Given the description of an element on the screen output the (x, y) to click on. 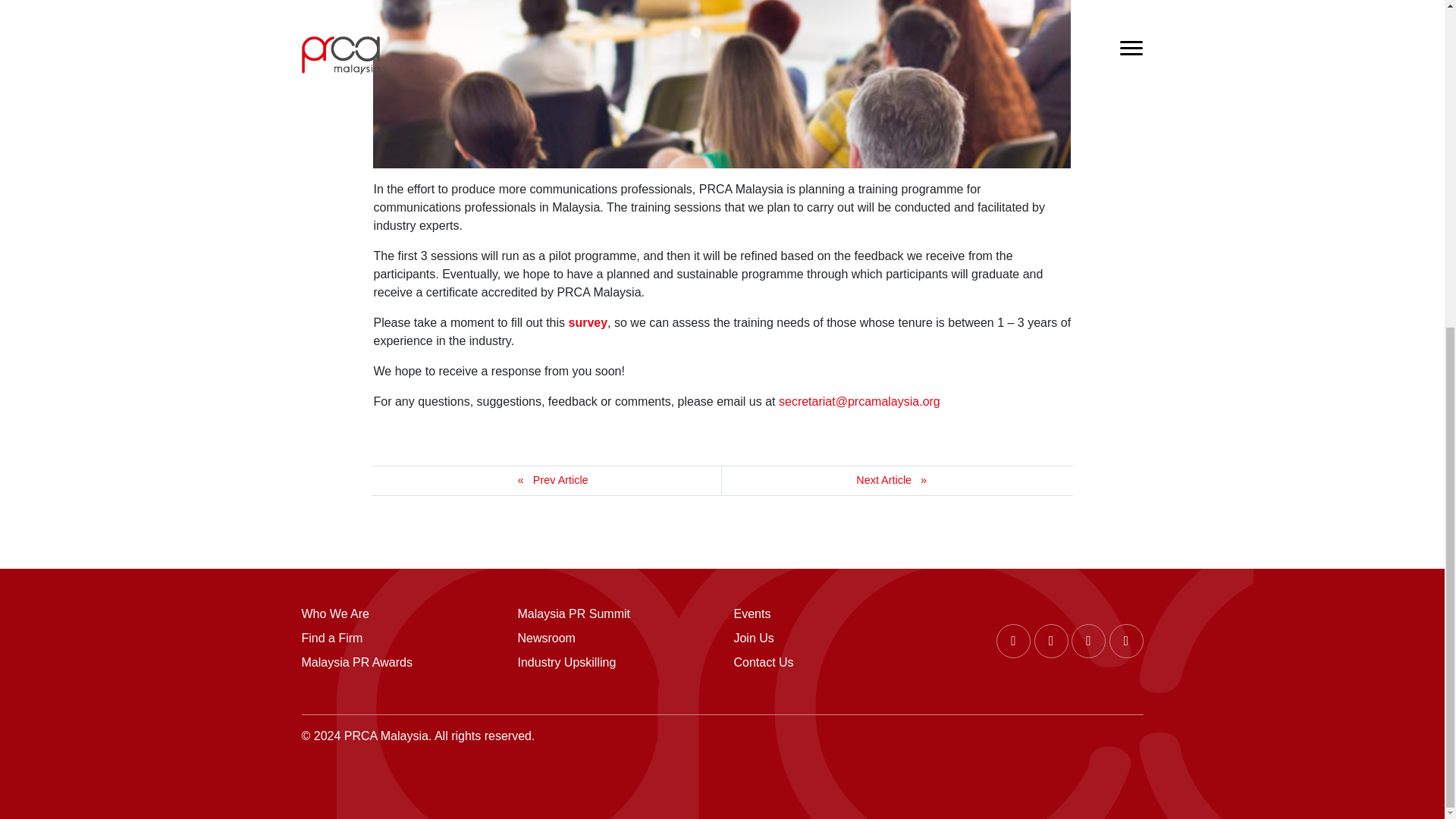
survey (588, 322)
Who We Are (398, 614)
Find a Firm (398, 638)
Malaysia PR Summit (613, 614)
Newsroom (613, 638)
Join Us (829, 638)
Events (829, 614)
Malaysia PR Awards (398, 662)
Malaysia's Most Prestigious PR Award is Back! (897, 480)
Contact Us (829, 662)
Industry Upskilling (613, 662)
